Given the description of an element on the screen output the (x, y) to click on. 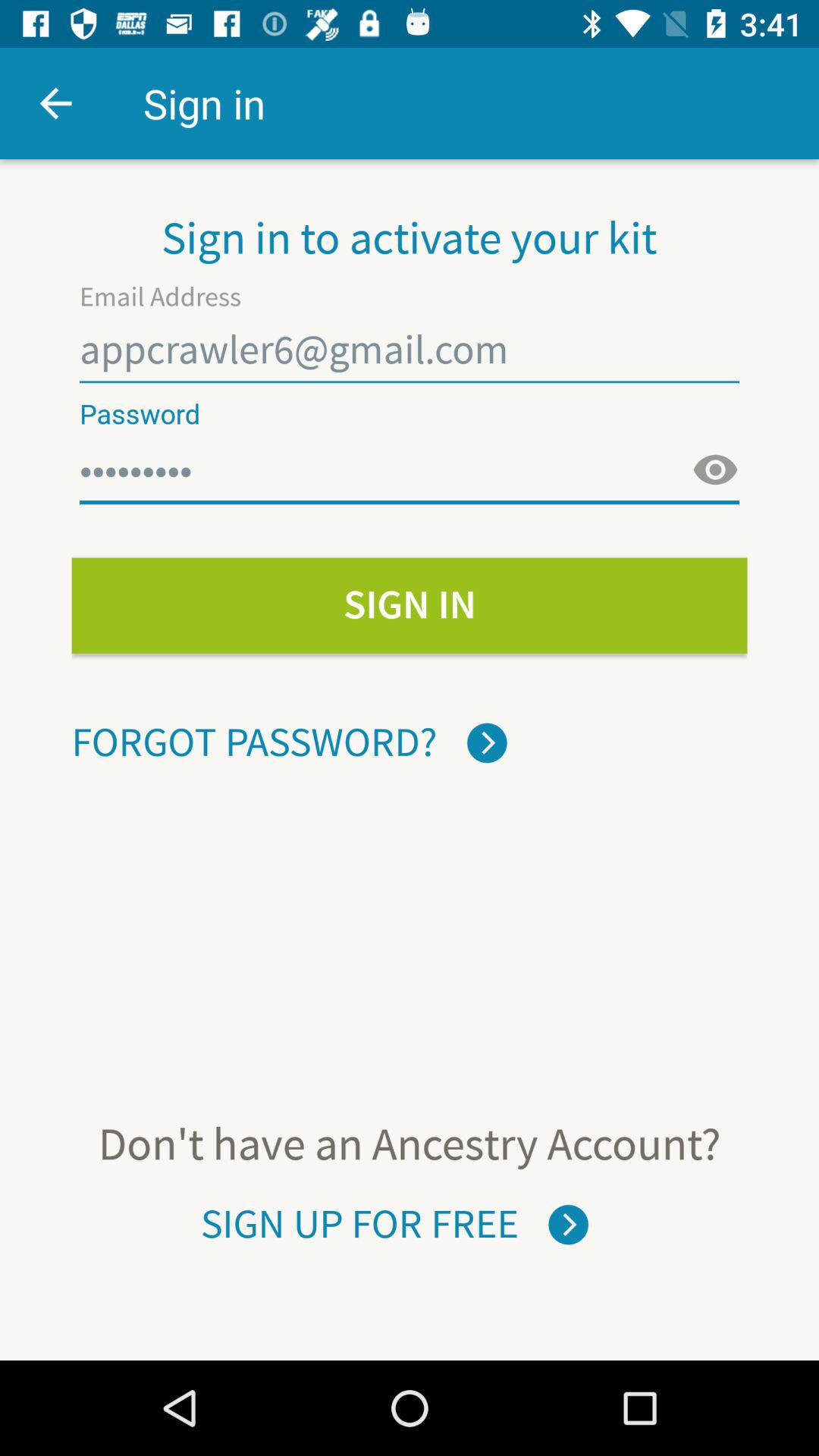
view password (715, 470)
